Given the description of an element on the screen output the (x, y) to click on. 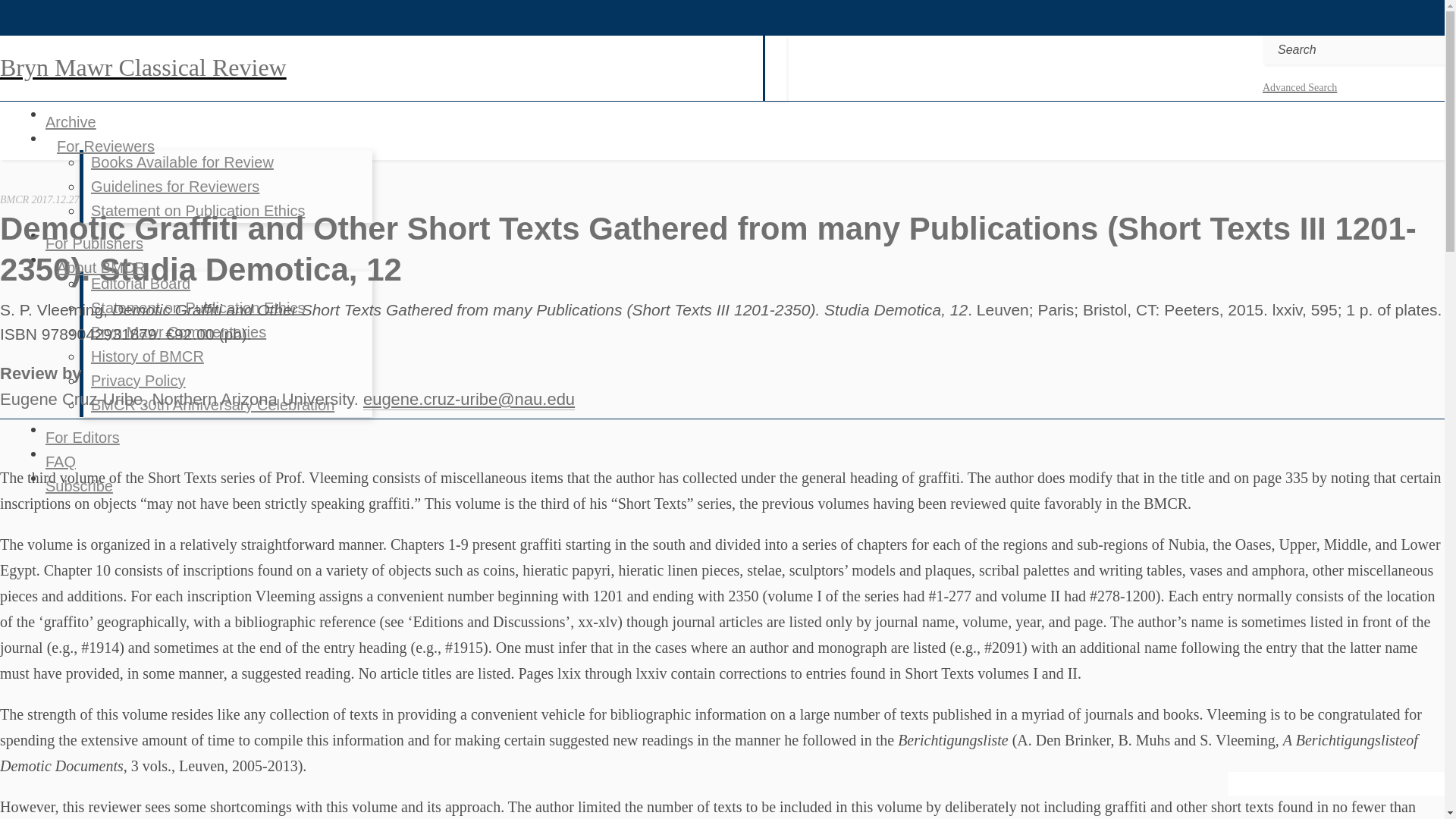
Archive (70, 121)
Editorial Board (140, 283)
Statement on Publication Ethics (197, 307)
FAQ (60, 461)
Bryn Mawr Commentaries (177, 332)
About BMCR (100, 267)
Subscribe (79, 485)
Privacy Policy (137, 380)
Books Available for Review (181, 162)
For Editors (82, 437)
